Given the description of an element on the screen output the (x, y) to click on. 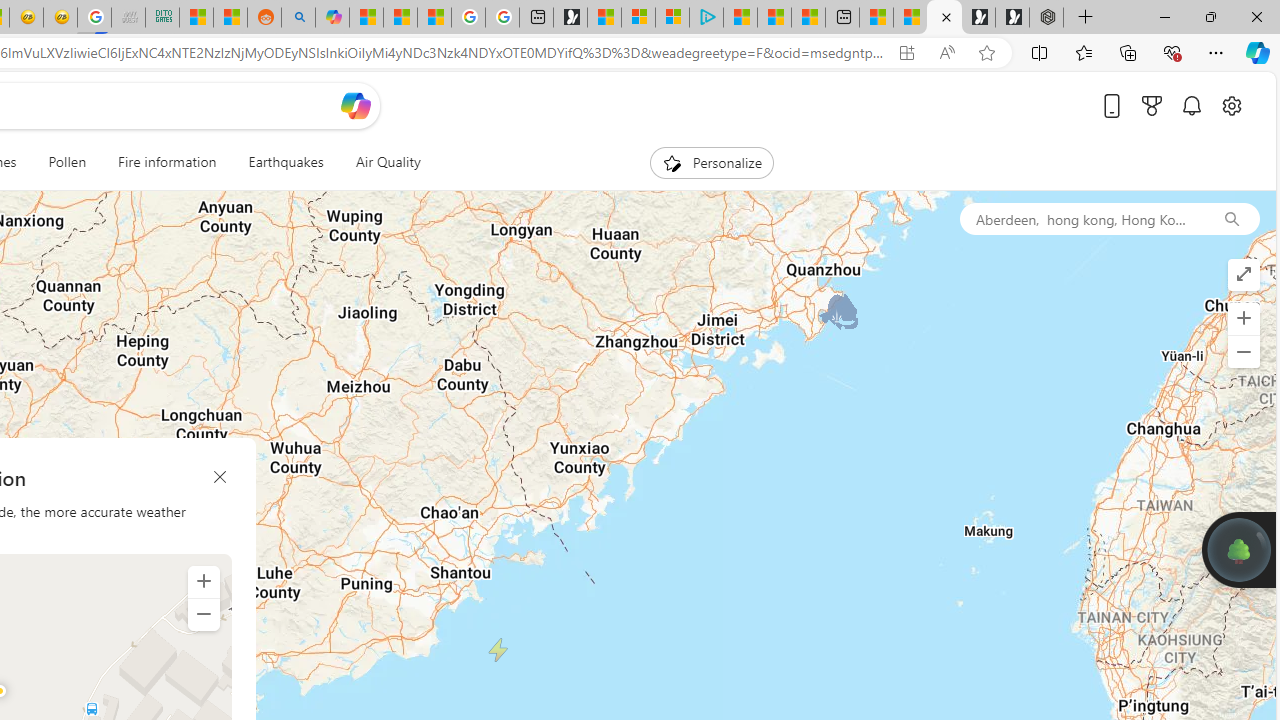
Open settings (1231, 105)
Utah sues federal government - Search (297, 17)
Microsoft Start (774, 17)
Air Quality (380, 162)
Fire information (167, 162)
Pollen (67, 162)
App available. Install Microsoft Start Weather (906, 53)
